Given the description of an element on the screen output the (x, y) to click on. 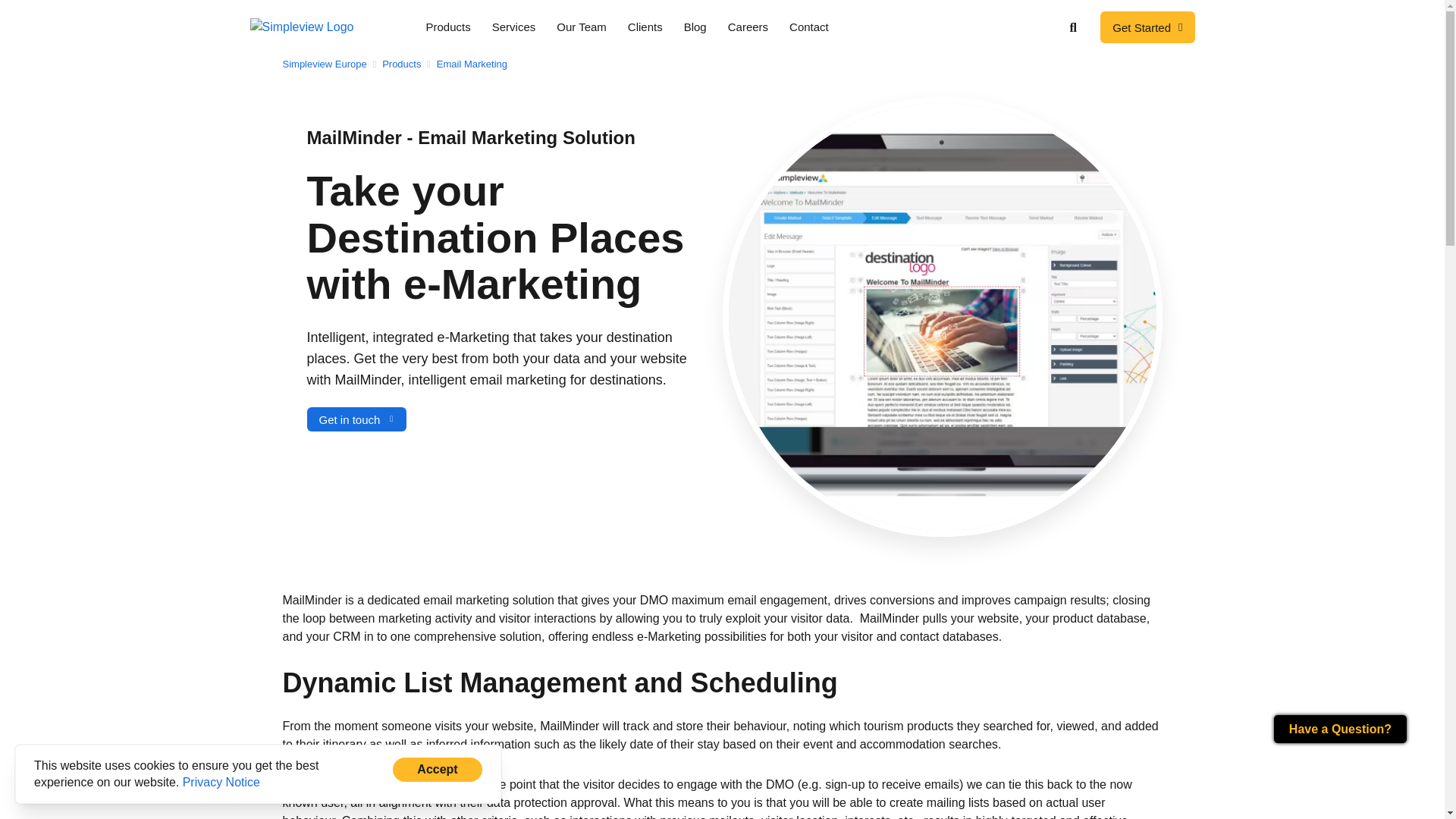
Contact (809, 27)
Get in touch (355, 419)
Products  (405, 63)
Take your Destination Places with e-Marketing (494, 237)
Our Team (581, 27)
Simpleview Europe  (328, 63)
Services (514, 27)
Get Started (1146, 27)
Products (447, 27)
Clients (644, 27)
MailMinder - Email Marketing Solution (469, 137)
Careers (747, 27)
Email Marketing  (473, 63)
